Given the description of an element on the screen output the (x, y) to click on. 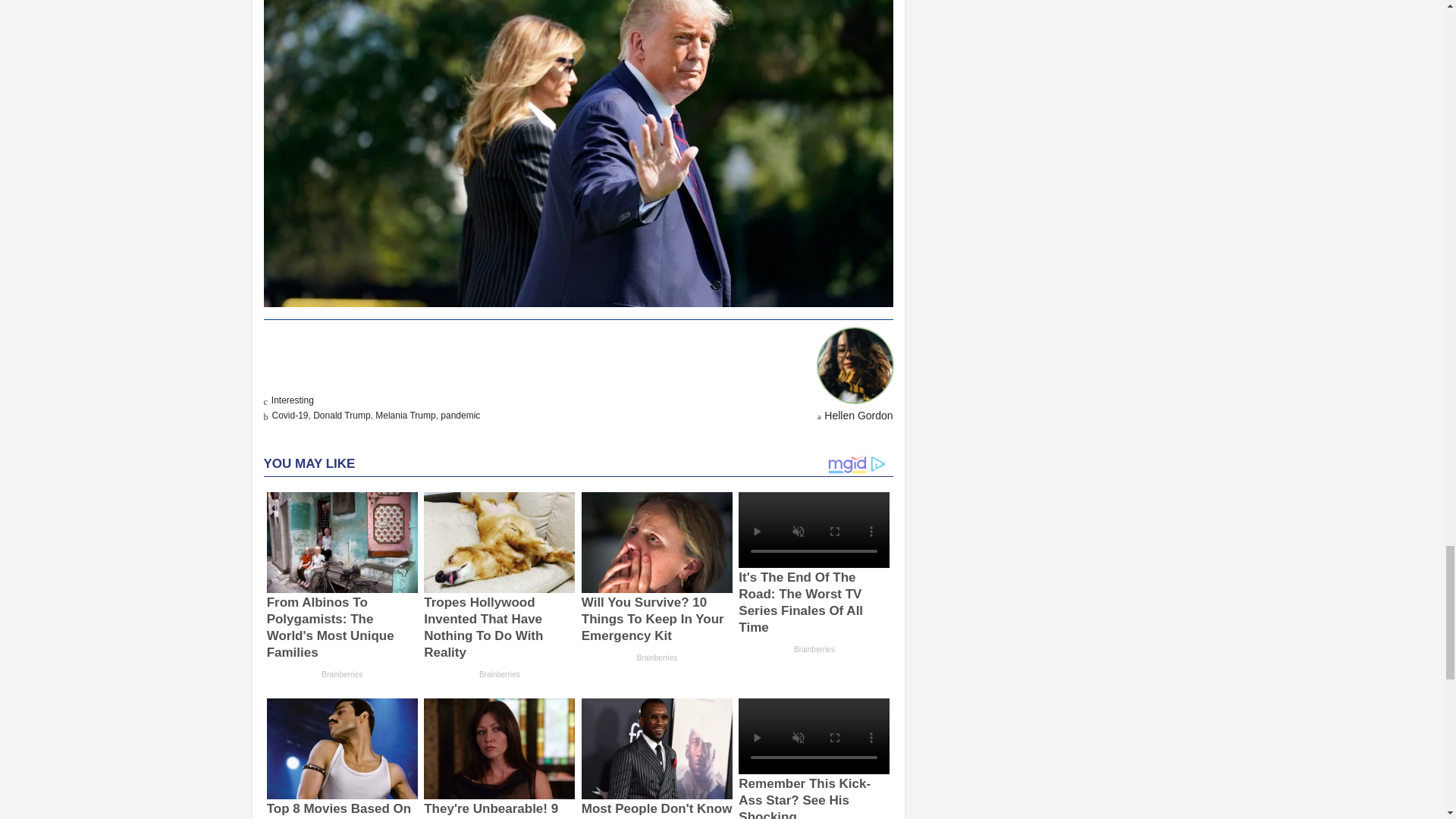
Interesting (292, 399)
Covid-19 (288, 415)
pandemic (460, 415)
Donald Trump (341, 415)
Melania Trump (405, 415)
